Given the description of an element on the screen output the (x, y) to click on. 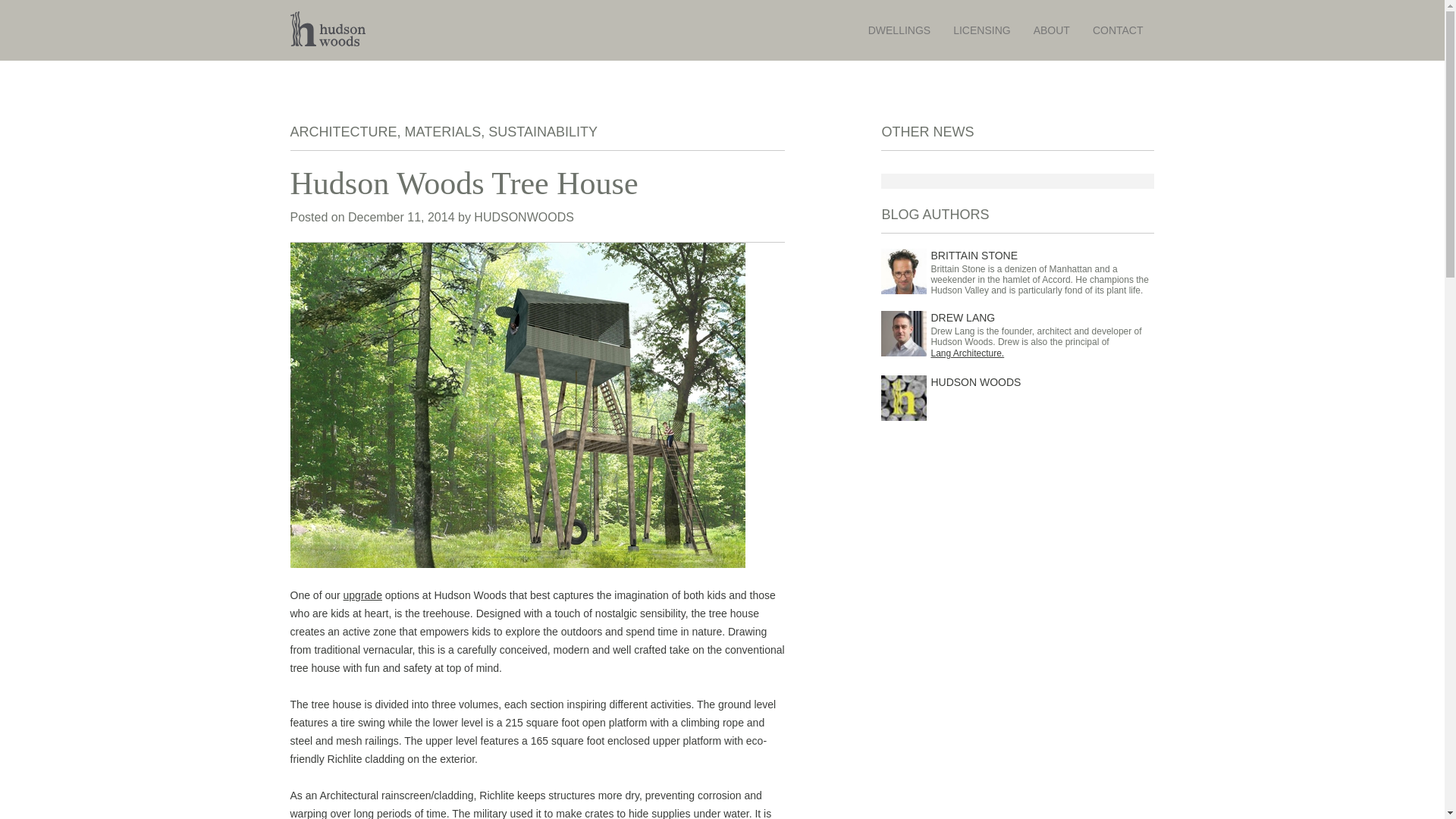
HUDSONWOODS (523, 216)
ABOUT (1051, 30)
Lang Architecture. (1042, 353)
Hudson Woods Tree House (536, 183)
LICENSING (982, 30)
SUSTAINABILITY (541, 131)
CONTACT (1117, 30)
MATERIALS (442, 131)
upgrade (362, 594)
ARCHITECTURE (342, 131)
DWELLINGS (899, 30)
